Given the description of an element on the screen output the (x, y) to click on. 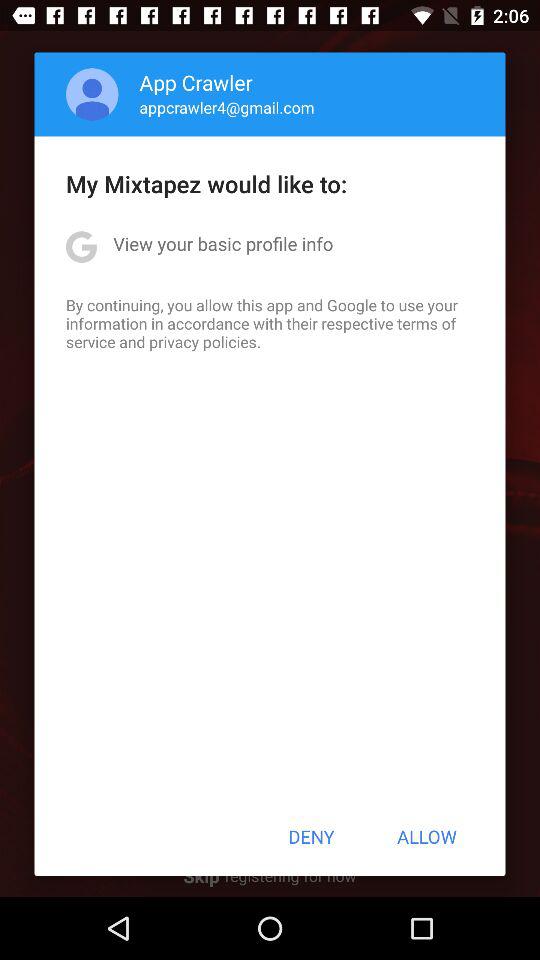
tap the button at the bottom (311, 836)
